Given the description of an element on the screen output the (x, y) to click on. 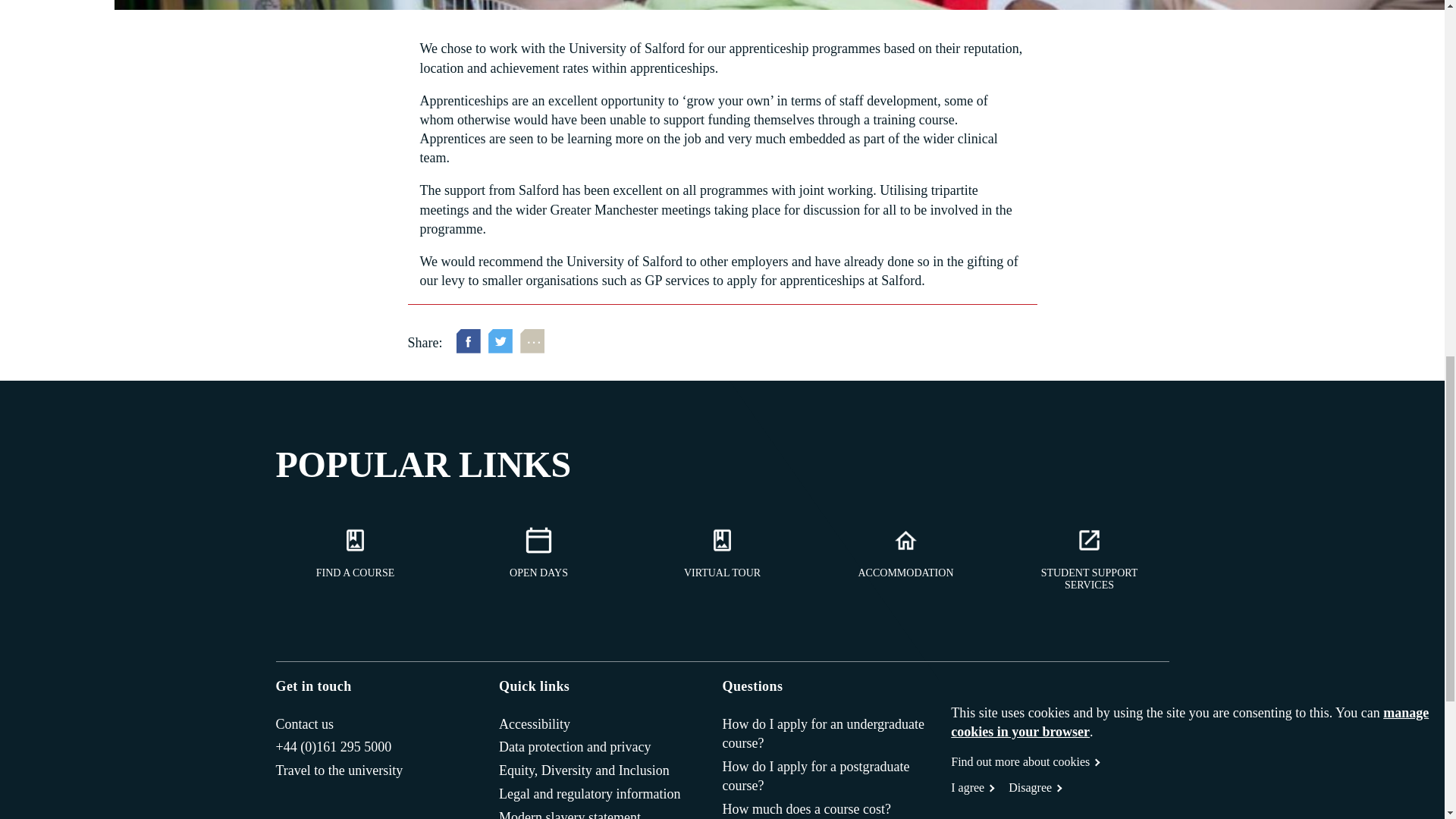
How do I apply for a postgraduate course? (827, 776)
How much does a course cost? (805, 809)
How do I apply for an undergraduate course? (827, 733)
